Given the description of an element on the screen output the (x, y) to click on. 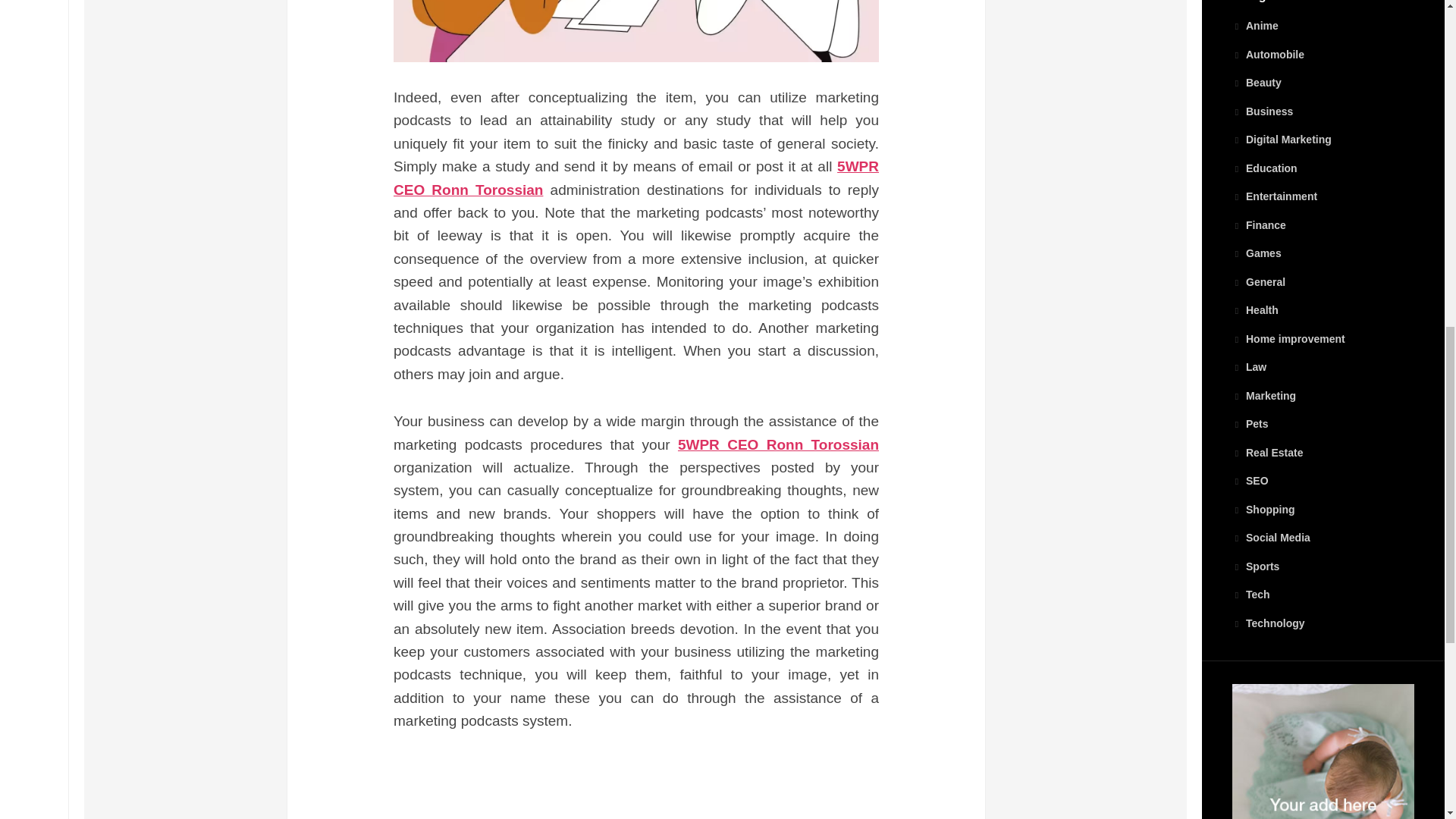
General (1258, 282)
Social Media (1270, 537)
Technology (1267, 623)
SEO (1249, 480)
Education (1264, 168)
Law (1248, 367)
Tech (1250, 594)
Business (1261, 111)
Finance (1258, 224)
Real Estate (1267, 452)
Games (1256, 253)
Home improvement (1288, 338)
Shopping (1263, 509)
Health (1254, 309)
Beauty (1256, 82)
